Given the description of an element on the screen output the (x, y) to click on. 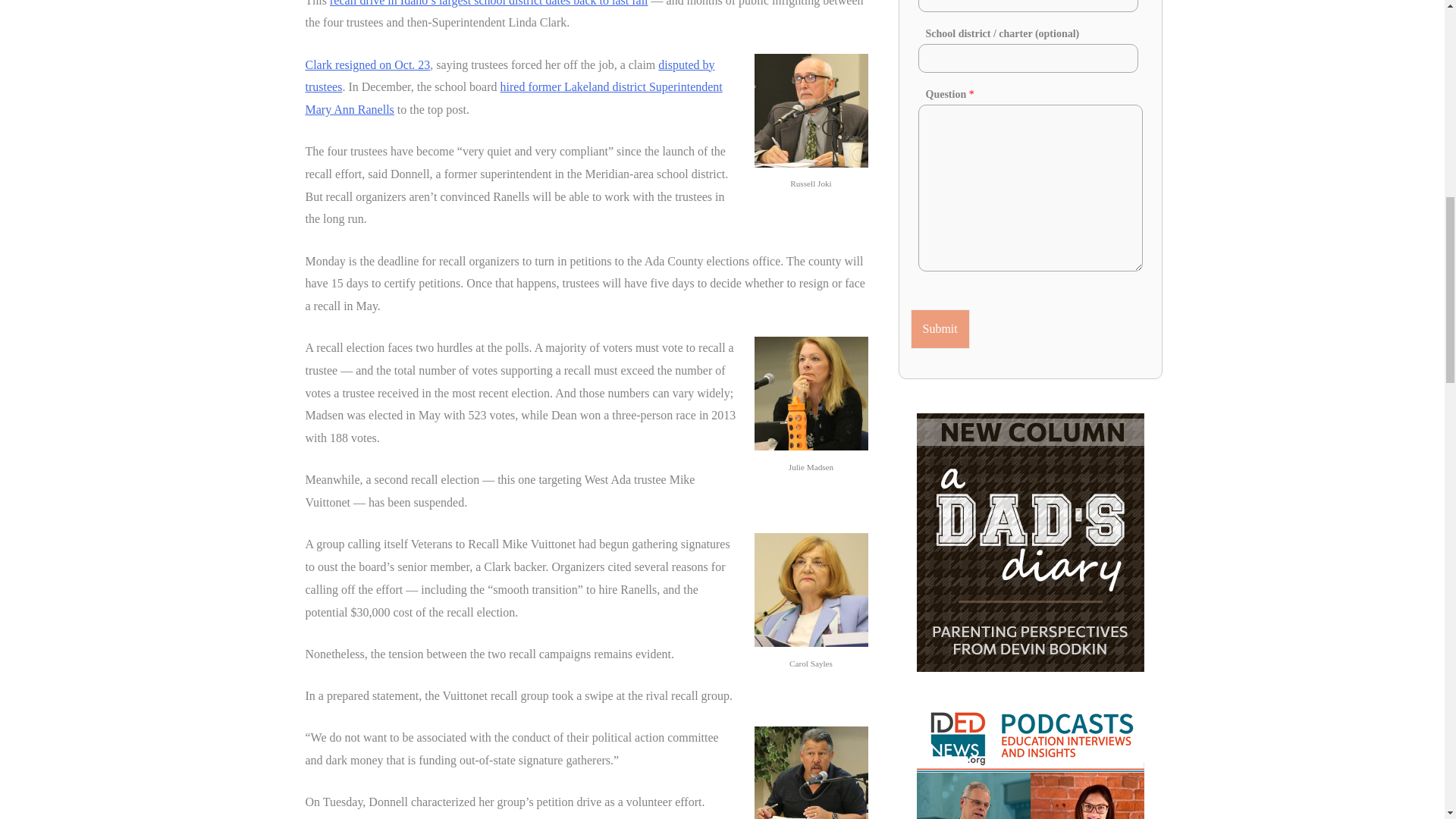
disputed by trustees (509, 76)
Clark resigned on Oct. 23 (366, 64)
Submit (939, 328)
